Given the description of an element on the screen output the (x, y) to click on. 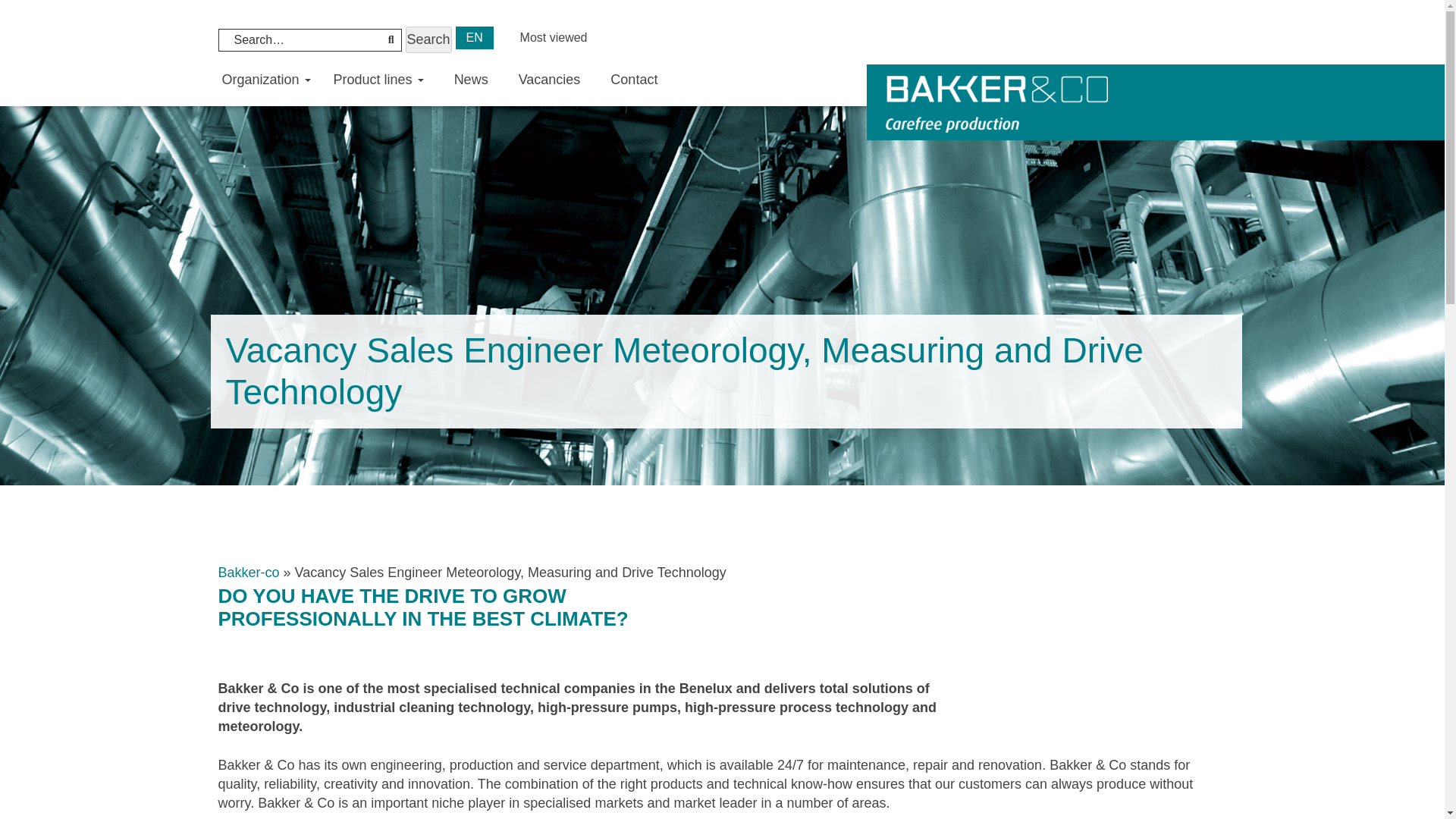
Product lines (379, 79)
EN (474, 37)
Contact (634, 79)
Product lines (379, 79)
Search (428, 39)
Search (428, 39)
Contact (634, 79)
Vacancies (550, 79)
News (470, 79)
Bakker-co (248, 572)
